Given the description of an element on the screen output the (x, y) to click on. 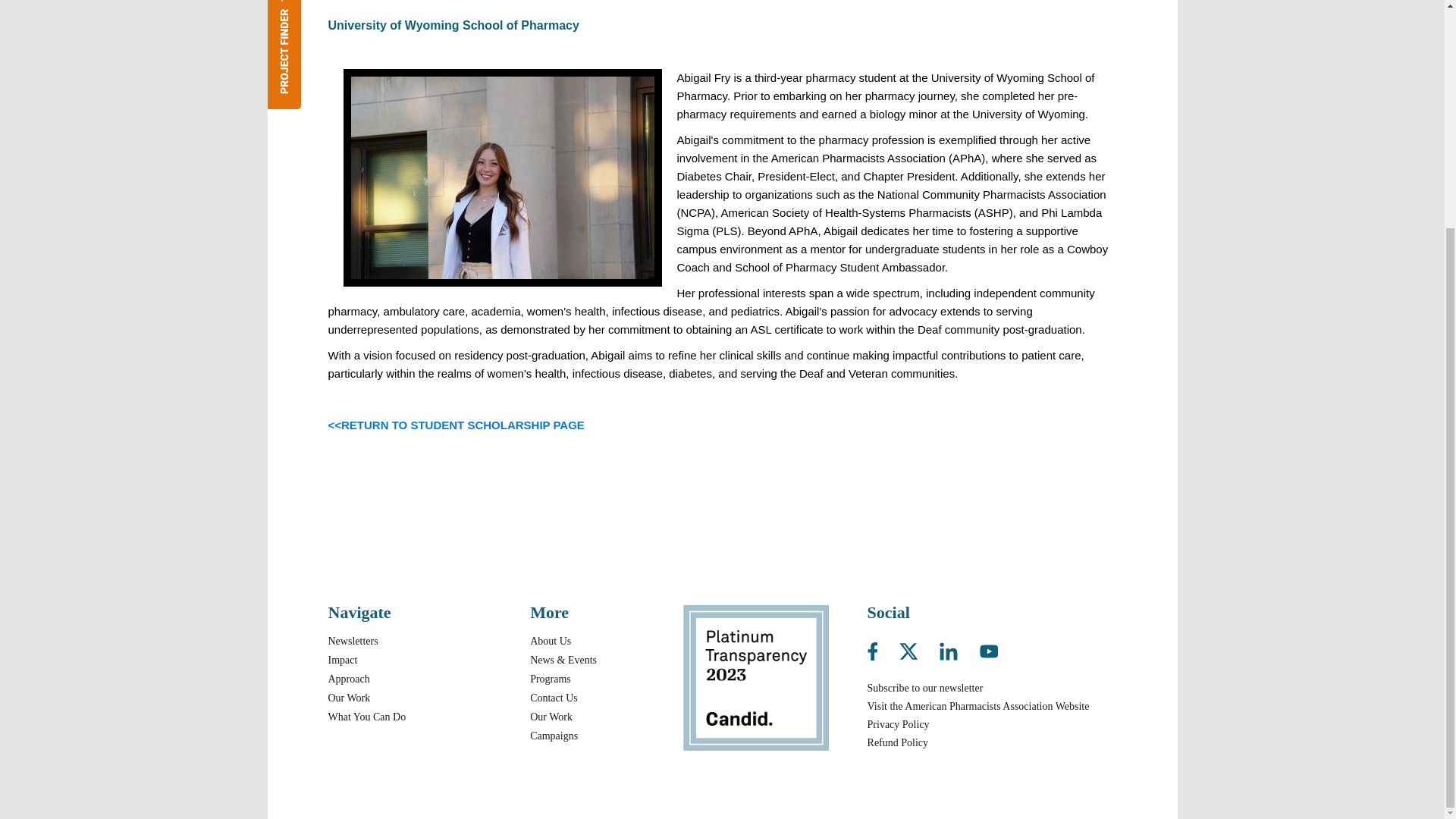
Newsletters (352, 641)
Our Work (348, 697)
About Us (549, 641)
Impact (341, 659)
Newsletters (352, 641)
LinkedIn (957, 647)
Twitter (917, 647)
Approach (348, 678)
What You Can Do (366, 716)
YouTube (988, 647)
